Given the description of an element on the screen output the (x, y) to click on. 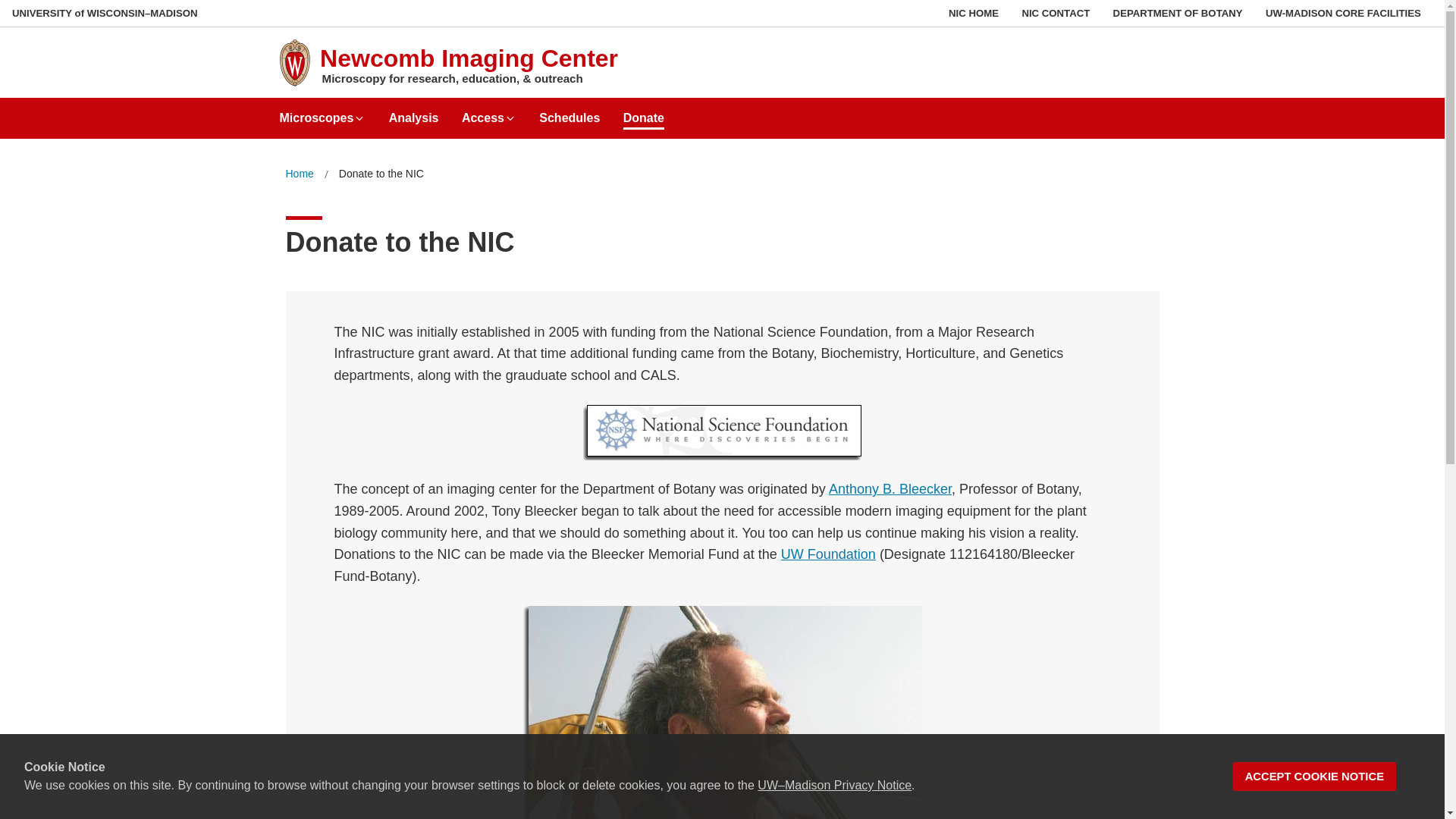
Donate (643, 112)
Expand (359, 118)
Skip to main content (3, 3)
Access Expand (488, 112)
Anthony B. Bleecker (890, 488)
UW-MADISON CORE FACILITIES (1343, 13)
Expand (509, 118)
DEPARTMENT OF BOTANY (1178, 13)
Home (299, 173)
NIC CONTACT (1055, 13)
Home (299, 173)
Microscopes Expand (322, 112)
ACCEPT COOKIE NOTICE (1314, 776)
Donate to the NIC (381, 173)
NIC HOME (973, 13)
